Given the description of an element on the screen output the (x, y) to click on. 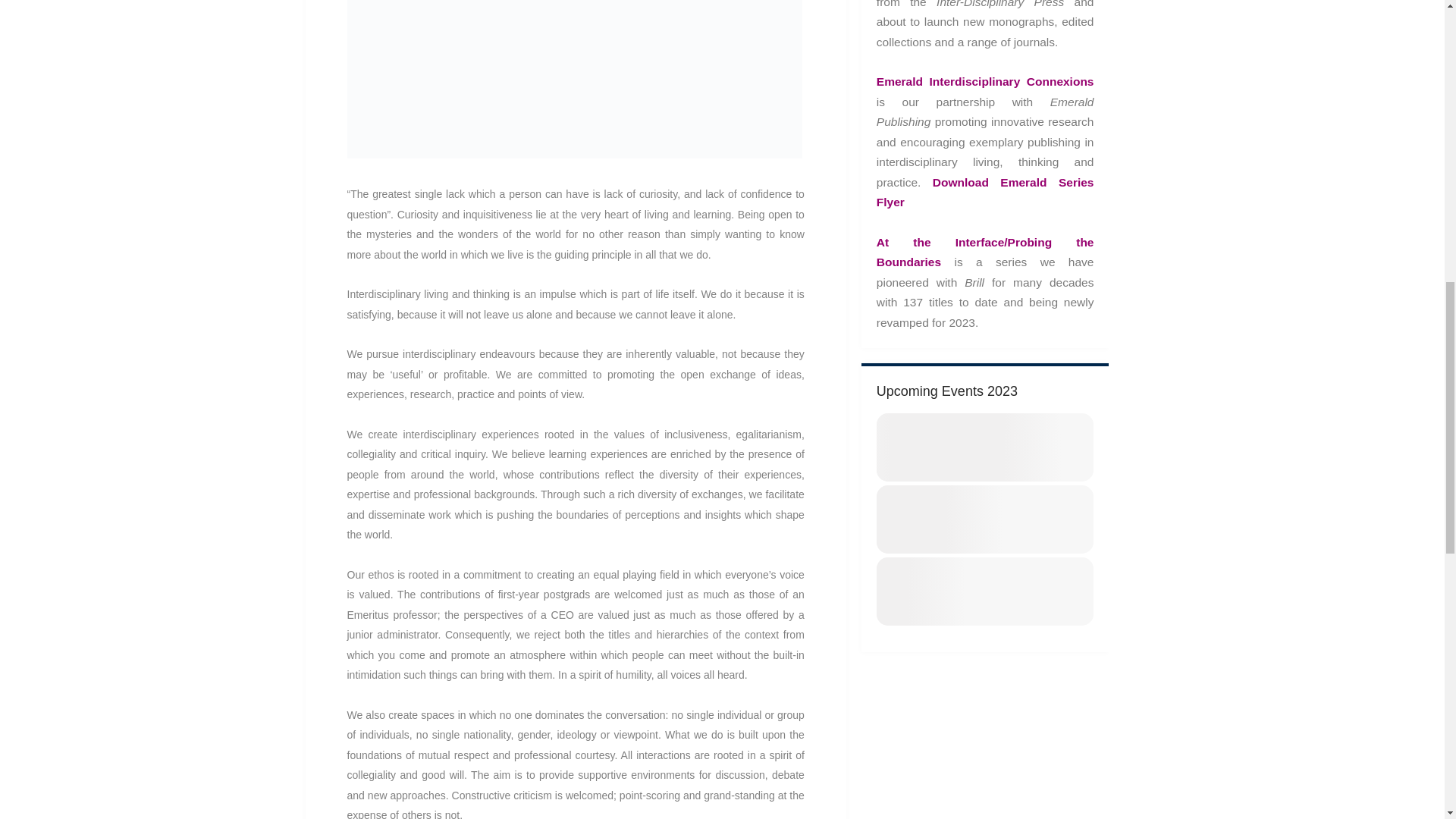
Emerald Interdisciplinary Connexions (985, 81)
